Given the description of an element on the screen output the (x, y) to click on. 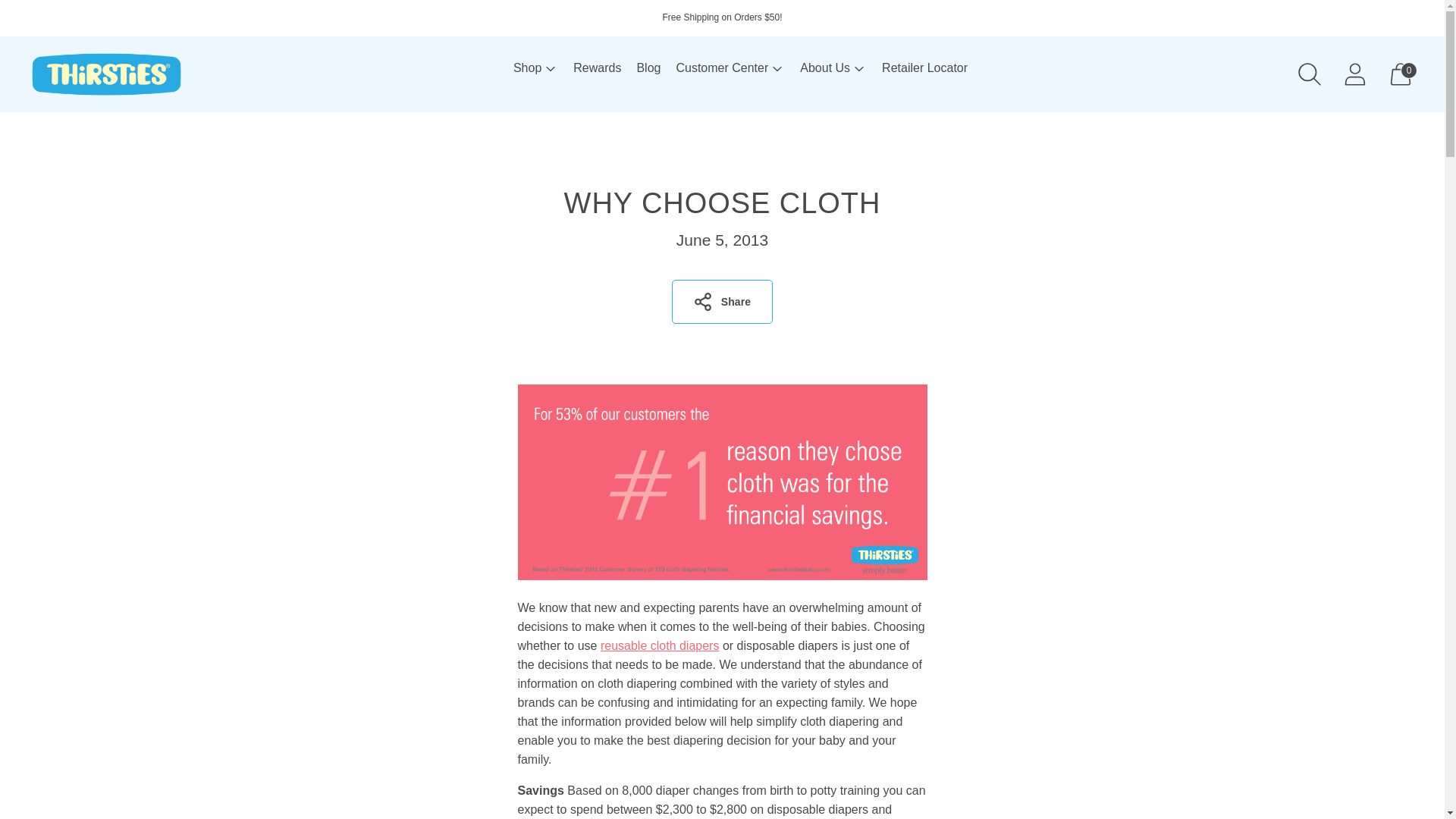
Customer Center (729, 68)
0 (1400, 74)
About Us (832, 68)
Retailer Locator (925, 68)
Shop (535, 68)
Rewards (597, 68)
